Given the description of an element on the screen output the (x, y) to click on. 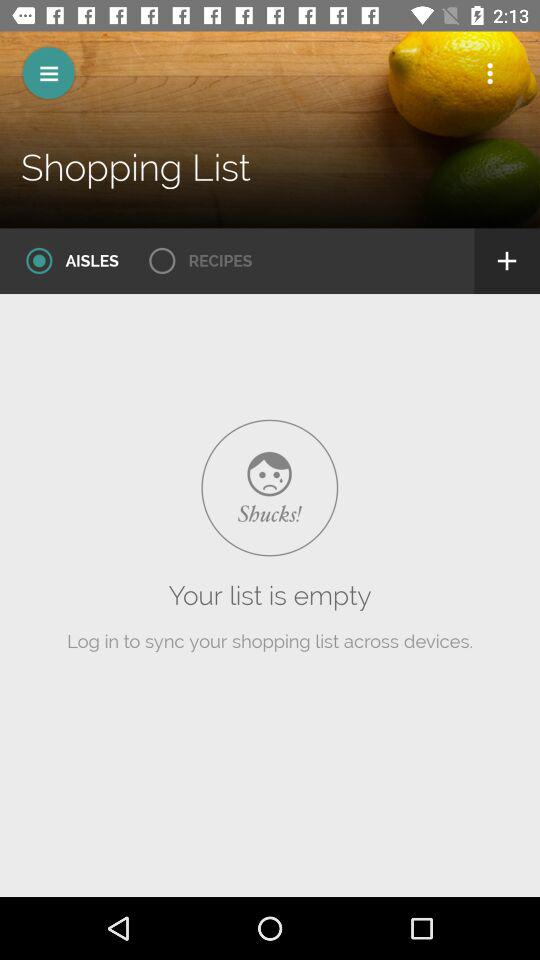
select recipe list (194, 261)
